Given the description of an element on the screen output the (x, y) to click on. 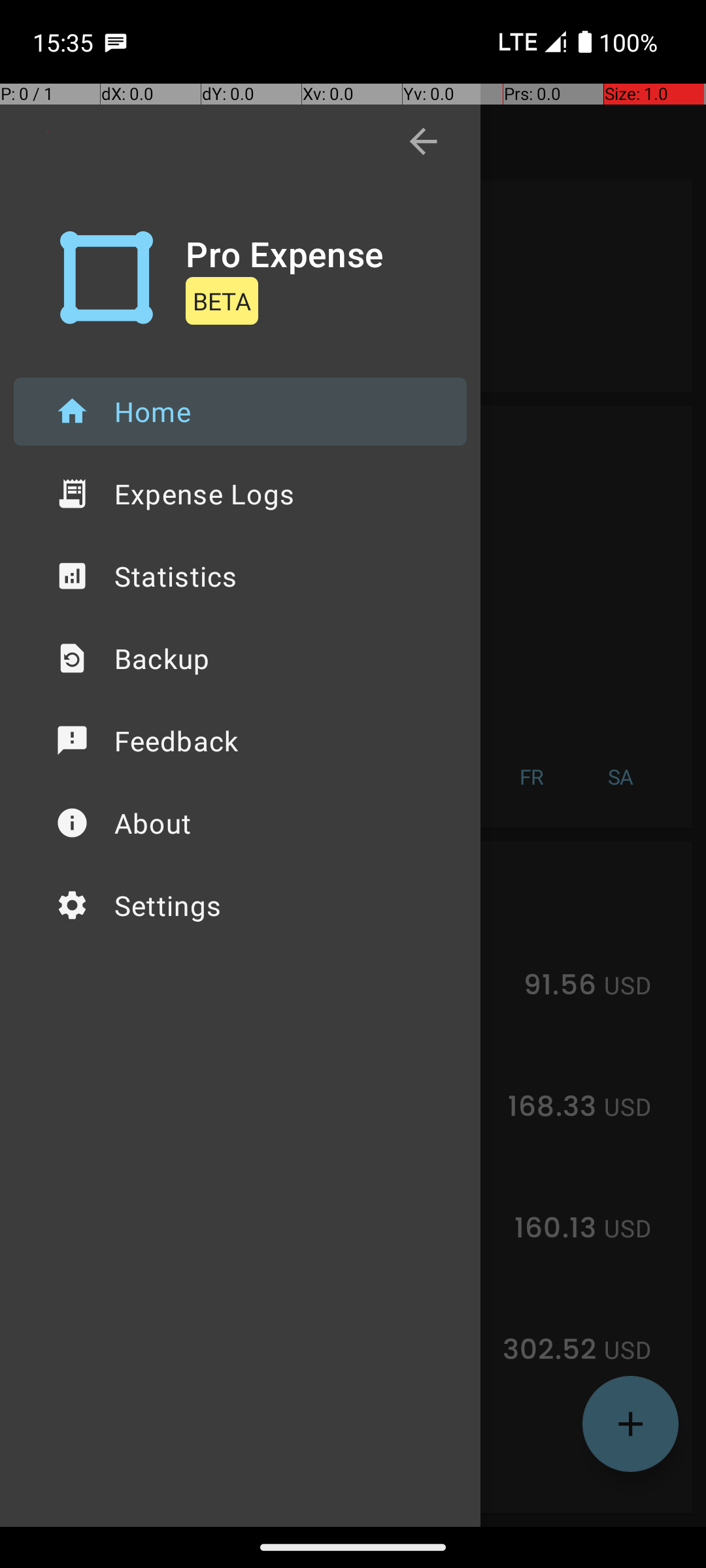
BETA Element type: android.widget.TextView (221, 300)
Statistics Element type: android.widget.CheckedTextView (239, 576)
